Given the description of an element on the screen output the (x, y) to click on. 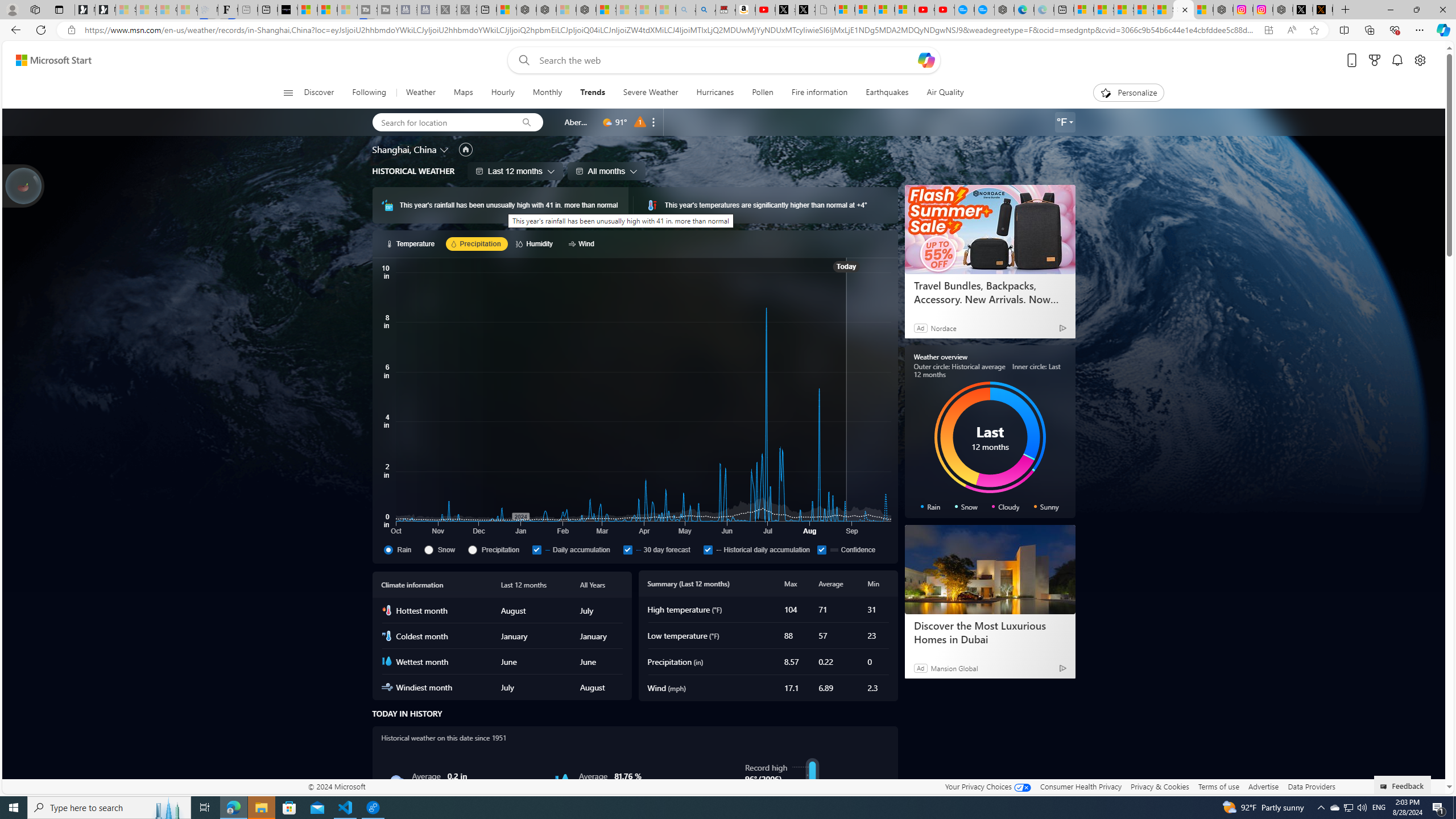
Terms of use (1218, 785)
Humidity (562, 781)
Hurricanes (715, 92)
App available. Install Microsoft Start Weather (1268, 29)
Pollen (762, 92)
Snow (443, 549)
Pollen (762, 92)
